Given the description of an element on the screen output the (x, y) to click on. 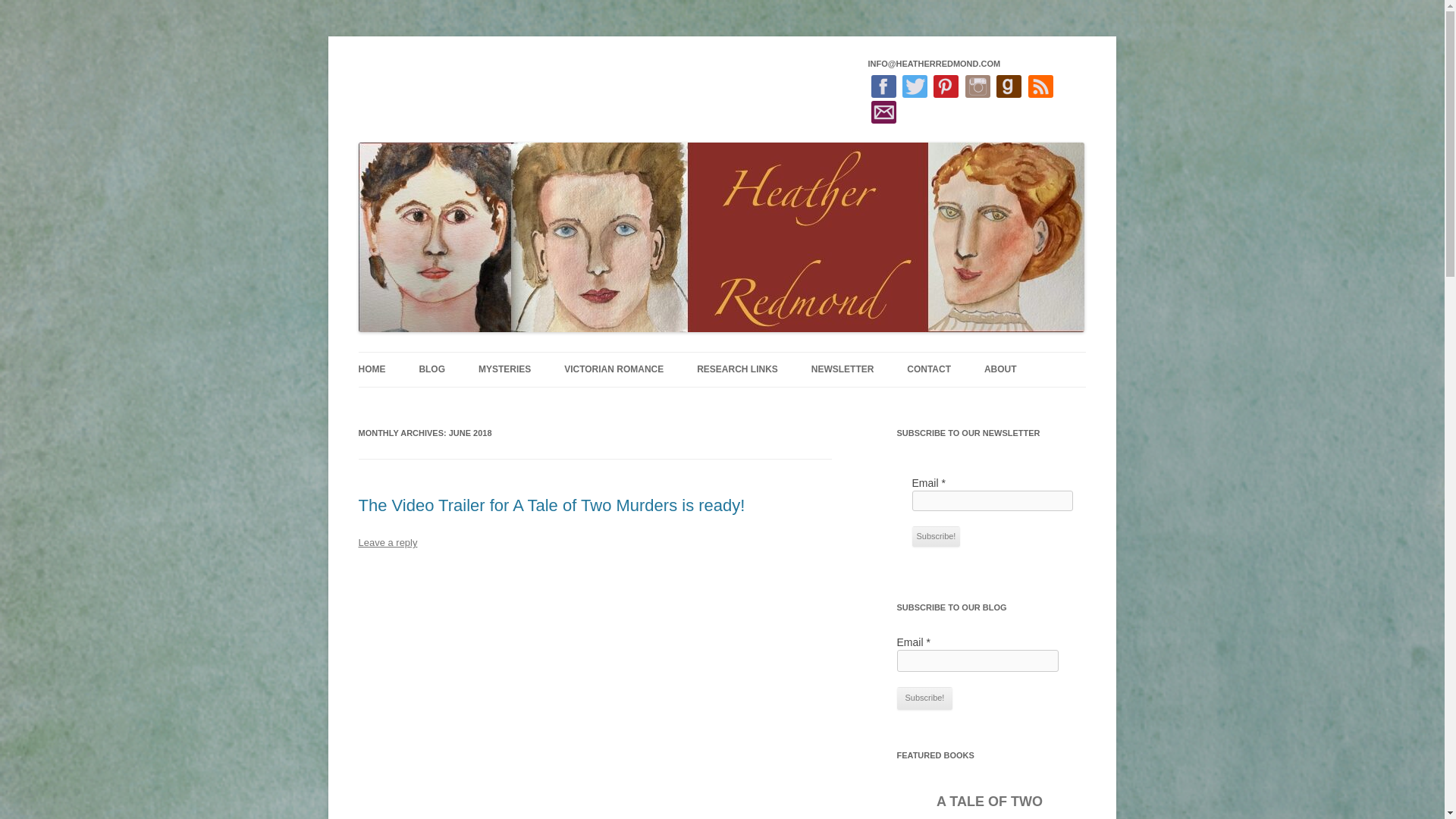
Goodreads (1008, 86)
The Video Trailer for A Tale of Two Murders is ready! (551, 505)
Instagram (977, 86)
Facebook (883, 86)
NEWSLETTER (842, 368)
ABOUT (1000, 368)
Twitter (914, 86)
RESEARCH LINKS (737, 368)
Heather Redmond (442, 72)
VICTORIAN ROMANCE (613, 368)
